Given the description of an element on the screen output the (x, y) to click on. 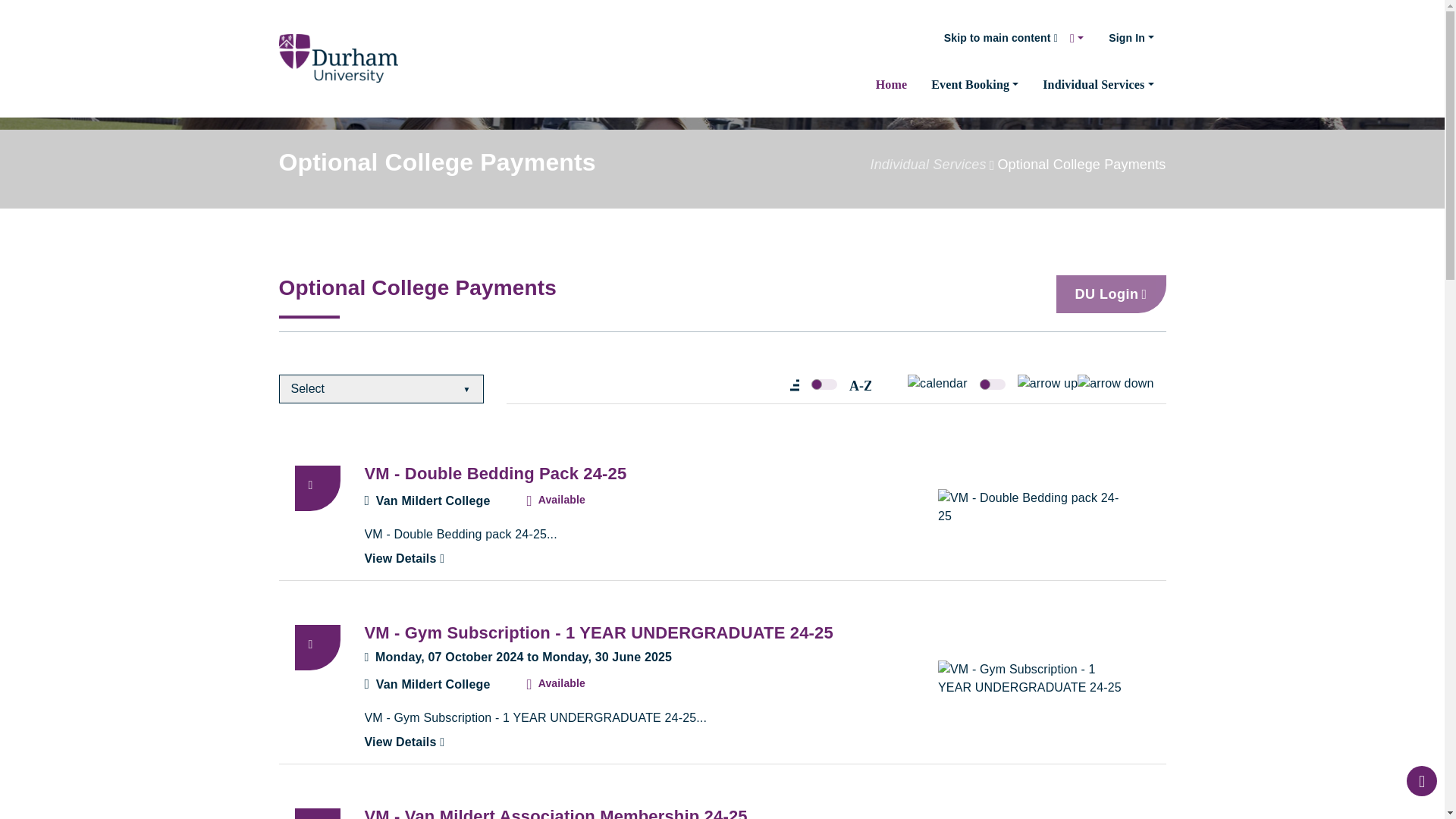
Skip to main content (1000, 37)
View Details (404, 558)
Individual Services (1098, 84)
toggle left to sort by descending date order (937, 384)
Event Booking (974, 84)
toggle right to sort by alphabetical order (859, 384)
Sign In (1137, 38)
DU Login (1110, 293)
View Details (404, 741)
toggle right to sort by ascending date order (1047, 384)
